Given the description of an element on the screen output the (x, y) to click on. 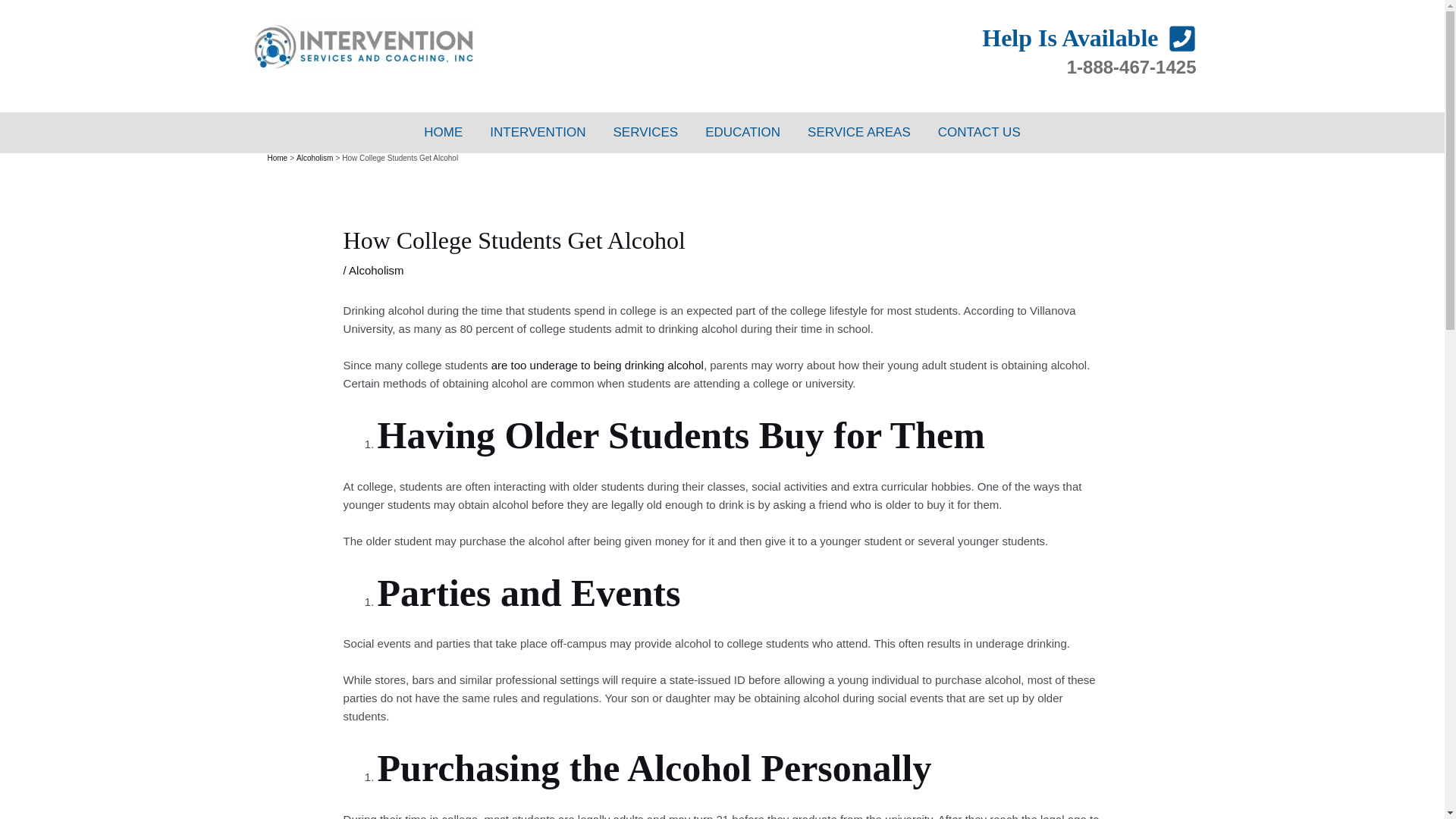
HOME (443, 132)
SERVICE AREAS (858, 132)
Extreme binge drinking remains prevalent among teens (597, 364)
SERVICES (646, 132)
CONTACT US (978, 132)
EDUCATION (742, 132)
INTERVENTION (537, 132)
